Given the description of an element on the screen output the (x, y) to click on. 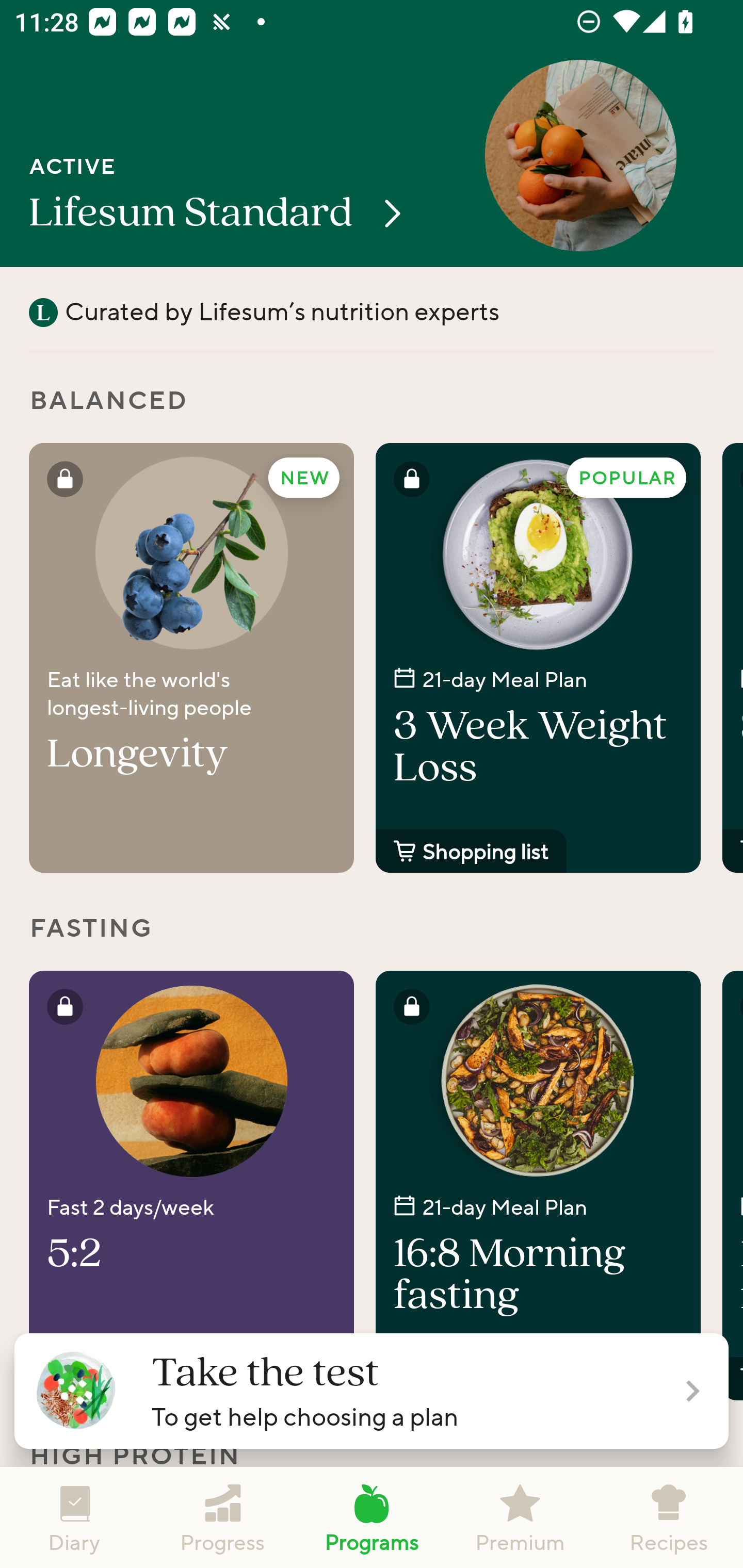
Fast 2 days/week 5:2 (190, 1185)
Take the test To get help choosing a plan (371, 1390)
Diary (74, 1517)
Progress (222, 1517)
Premium (519, 1517)
Recipes (668, 1517)
